Given the description of an element on the screen output the (x, y) to click on. 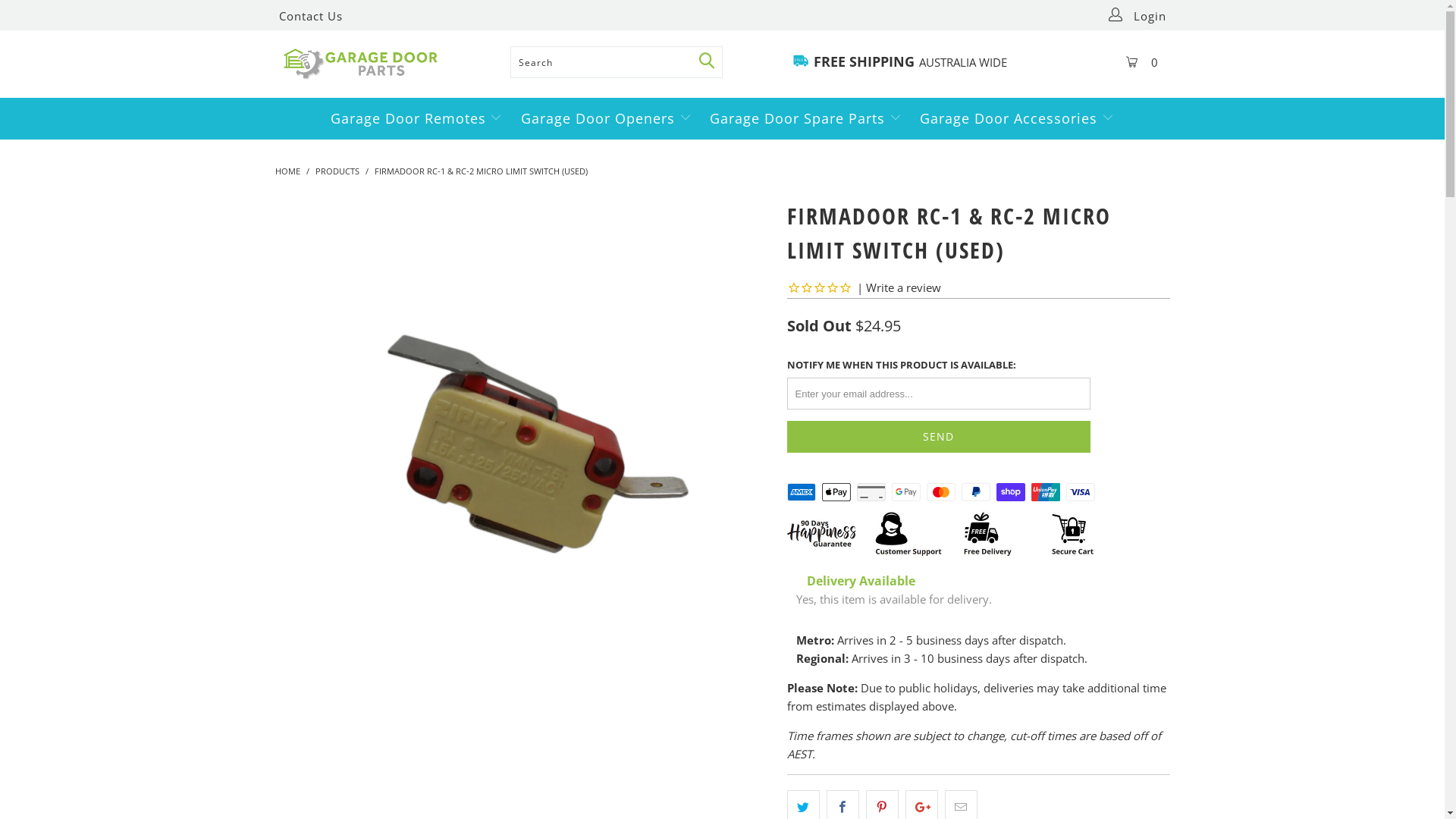
| Write a review Element type: text (864, 286)
Send Element type: text (938, 436)
Garage Door Accessories Element type: text (1016, 118)
Contact Us Element type: text (310, 15)
Garage Door Spare Parts Element type: text (805, 118)
HOME Element type: text (286, 170)
Login Element type: text (1139, 15)
Garage Door Openers Element type: text (605, 118)
0 Element type: text (1144, 64)
Garage Door Remotes Element type: text (416, 118)
GarageDoorParts Element type: hover (388, 64)
PRODUCTS Element type: text (337, 170)
